Given the description of an element on the screen output the (x, y) to click on. 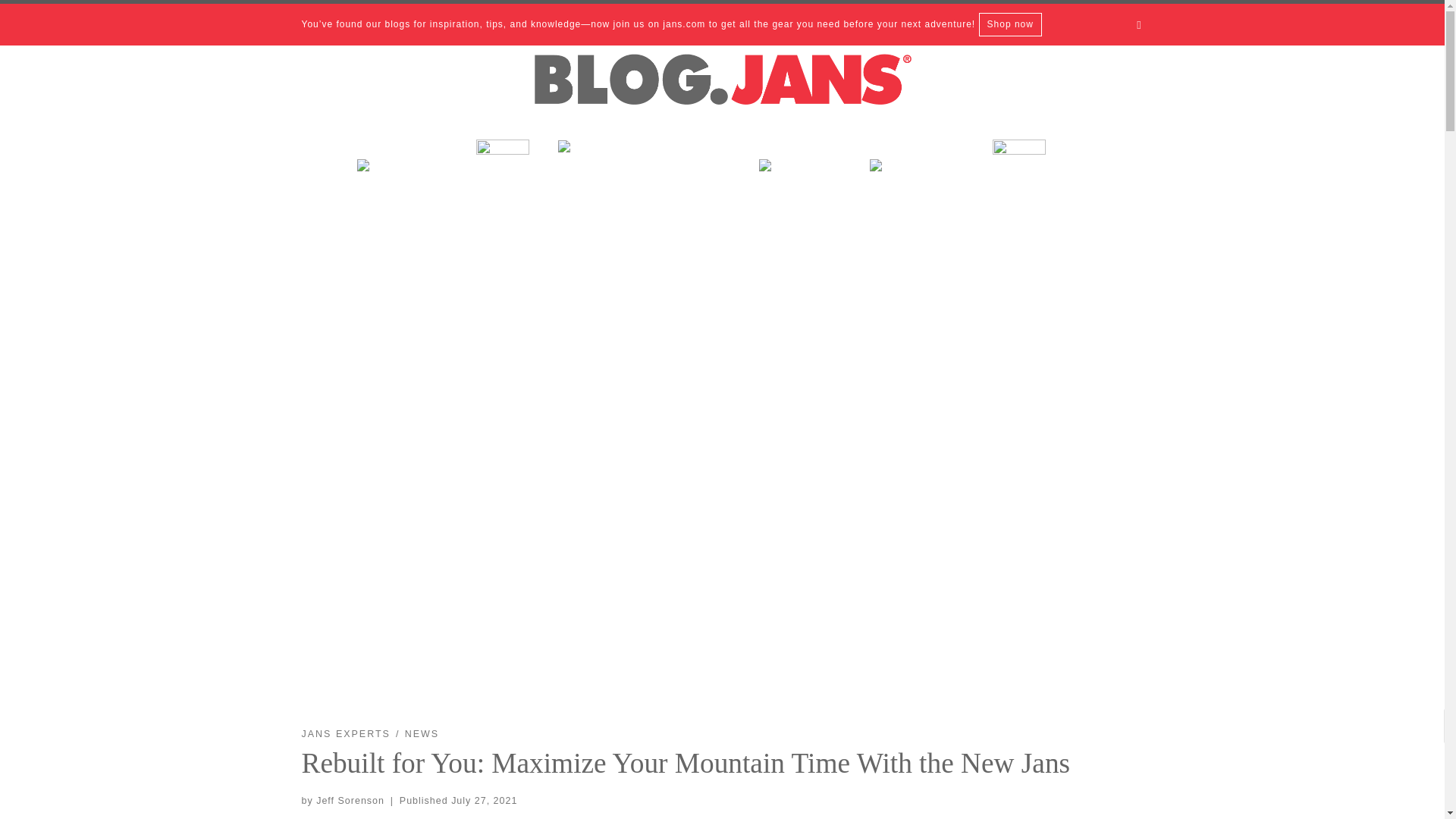
View all posts in Jans Experts (345, 734)
Skip to content (60, 20)
NORDIC SHOP (502, 176)
View all posts in News (421, 734)
Mtn Active (921, 176)
Fly Shop (805, 176)
FLY SHOP (805, 176)
CLOTHING (1040, 176)
Nordic Shop (502, 176)
NEWS (421, 734)
MTN ACTIVE (921, 176)
Search (1138, 23)
Jeff Sorenson (349, 800)
July 27, 2021 (483, 800)
Bike Shop (649, 157)
